Given the description of an element on the screen output the (x, y) to click on. 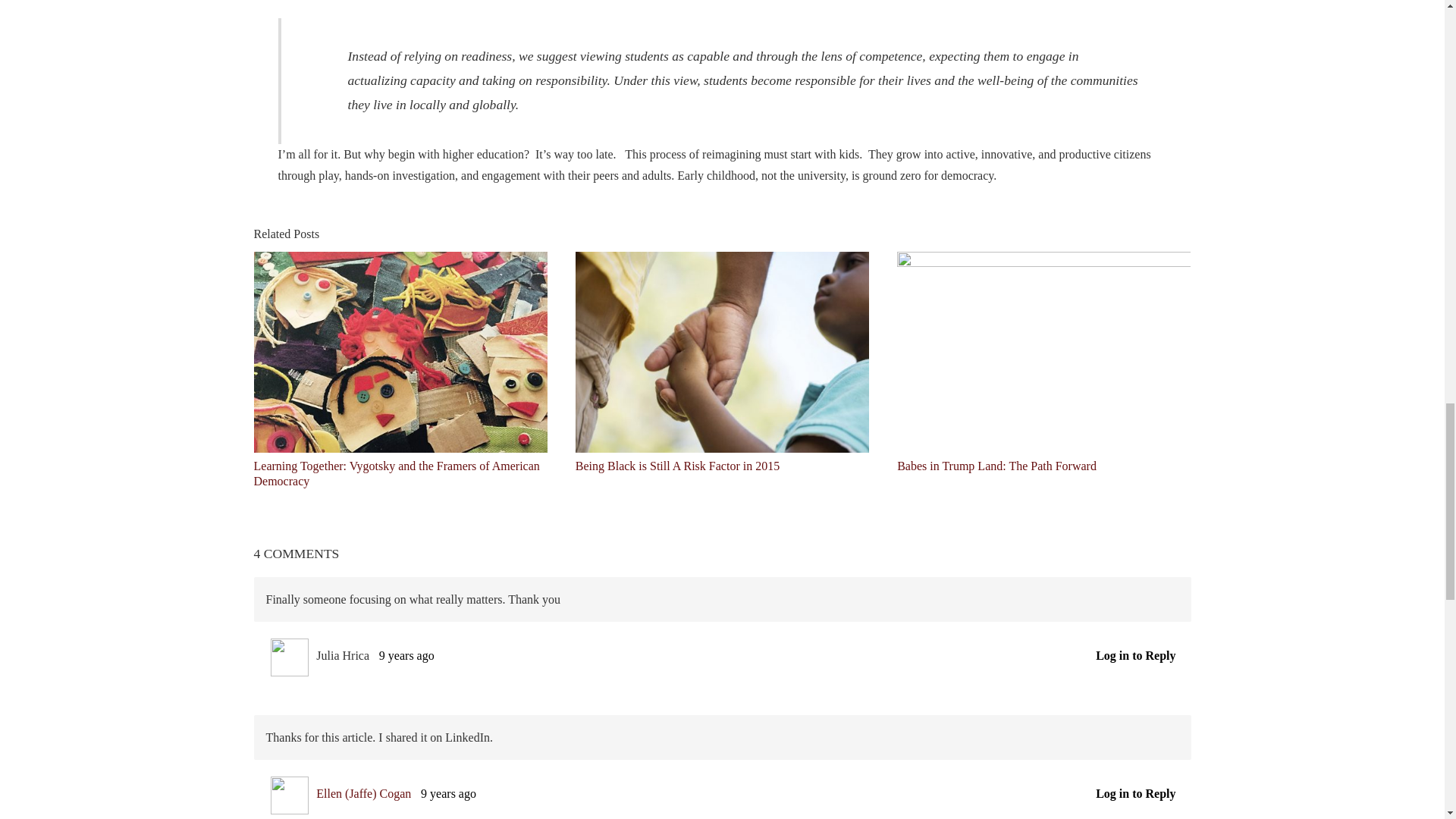
Babes in Trump Land: The Path Forward (1043, 350)
Babes in Trump Land: The Path Forward (996, 465)
Being Black is Still A Risk Factor in 2015 (676, 465)
Being Black is Still A Risk Factor in 2015 (722, 350)
Being Black is Still A Risk Factor in 2015 (676, 465)
